Given the description of an element on the screen output the (x, y) to click on. 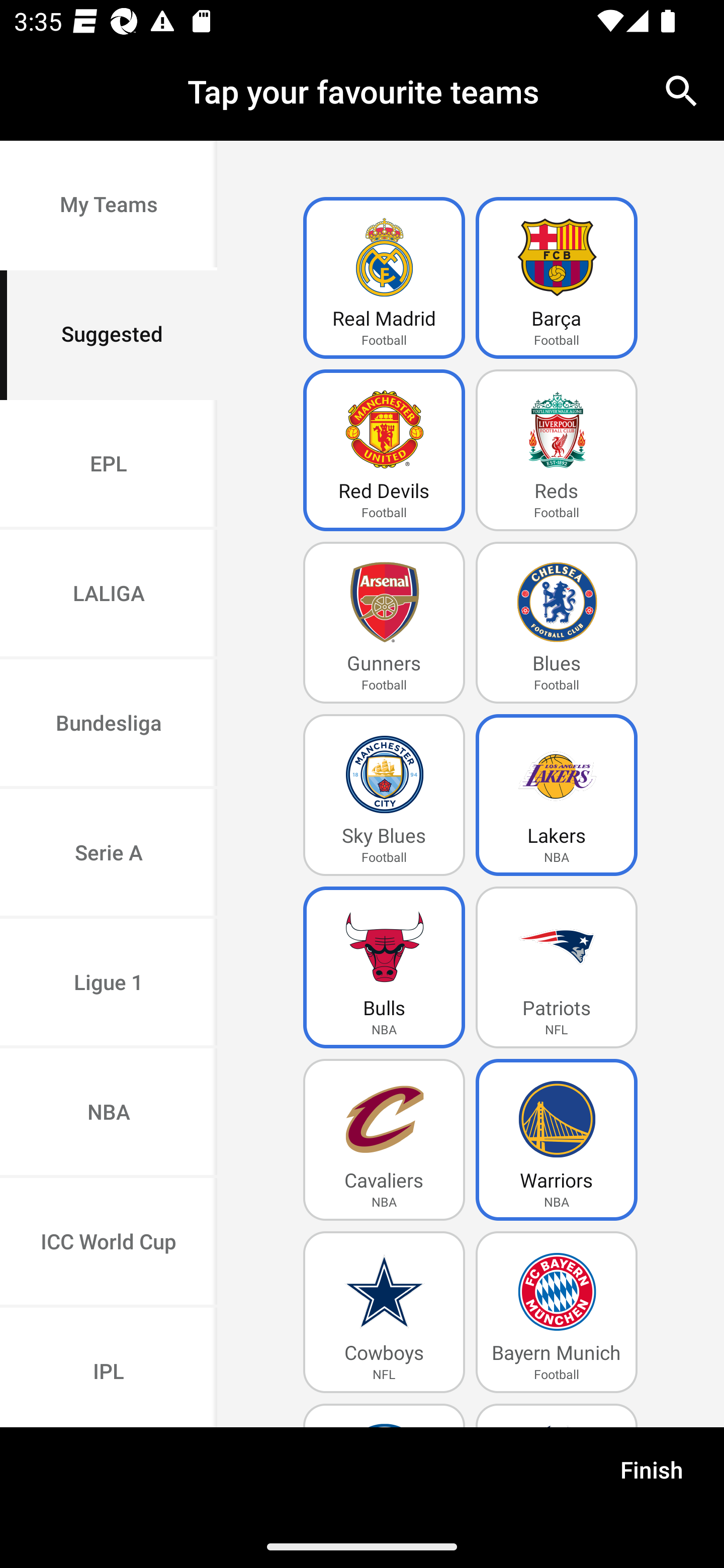
search (681, 90)
My Teams (108, 206)
Real Madrid Real MadridSelected Football (383, 278)
Barça BarçaSelected Football (556, 278)
Suggested (108, 334)
Red Devils Red DevilsSelected Football (383, 450)
Reds Reds Football (556, 450)
EPL (108, 464)
LALIGA (108, 594)
Gunners Gunners Football (383, 623)
Blues Blues Football (556, 623)
Bundesliga (108, 725)
Sky Blues Sky Blues Football (383, 794)
Lakers LakersSelected NBA (556, 794)
Serie A (108, 853)
Bulls BullsSelected NBA (383, 966)
Patriots Patriots NFL (556, 966)
Ligue 1 (108, 983)
NBA (108, 1113)
Cavaliers Cavaliers NBA (383, 1139)
Warriors WarriorsSelected NBA (556, 1139)
ICC World Cup (108, 1242)
Cowboys Cowboys NFL (383, 1311)
Bayern Munich Bayern Munich Football (556, 1311)
IPL (108, 1366)
Finish Finish and Close (651, 1475)
